Given the description of an element on the screen output the (x, y) to click on. 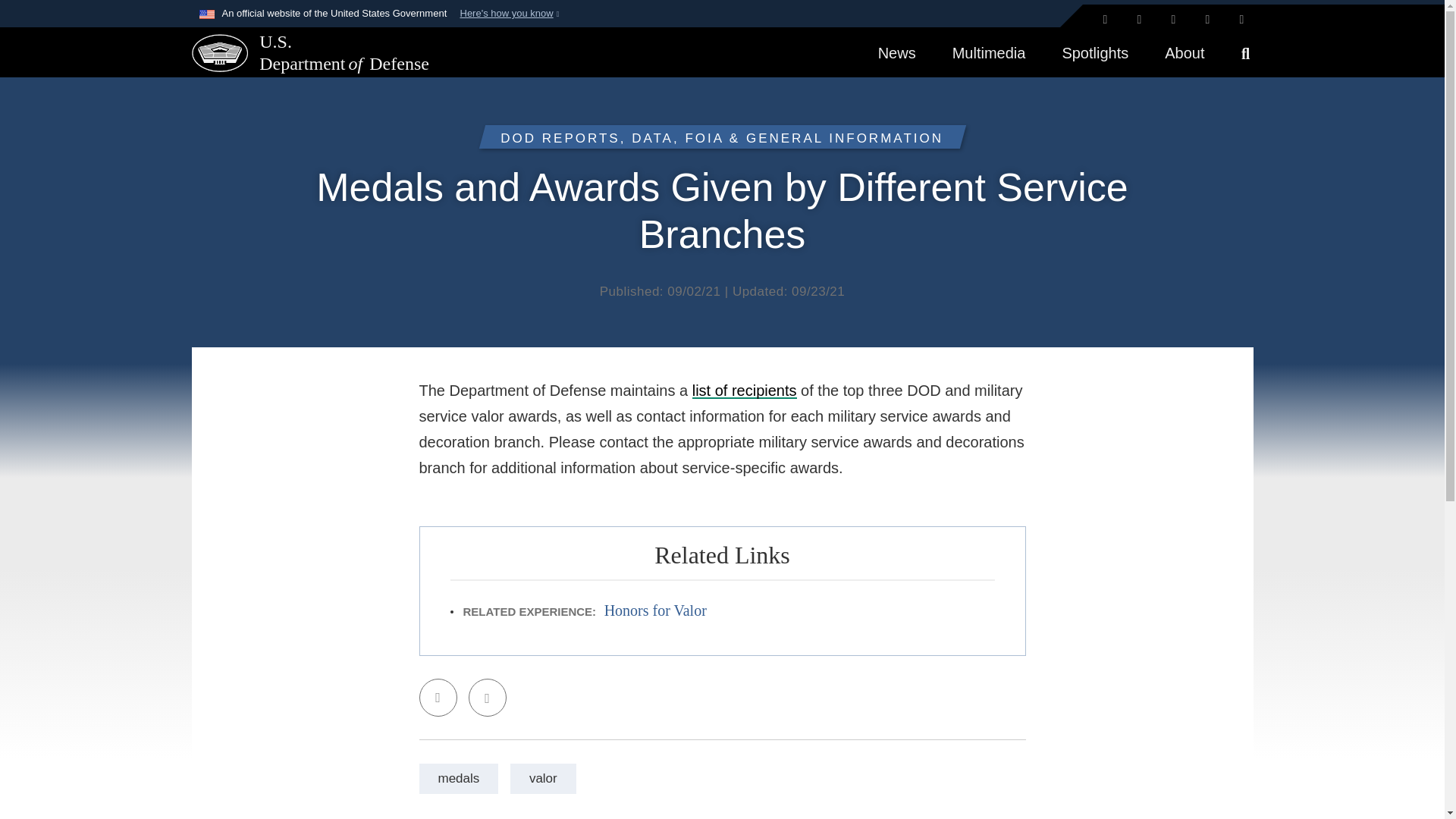
X (1104, 19)
News (897, 51)
U.S. DepartmentofDefense (298, 53)
Spotlights (1095, 51)
Multimedia (988, 51)
YouTube (1241, 19)
LinkedIn (1208, 19)
U.S. Department of Defense (218, 52)
Instagram (1173, 19)
Facebook (1139, 19)
